Given the description of an element on the screen output the (x, y) to click on. 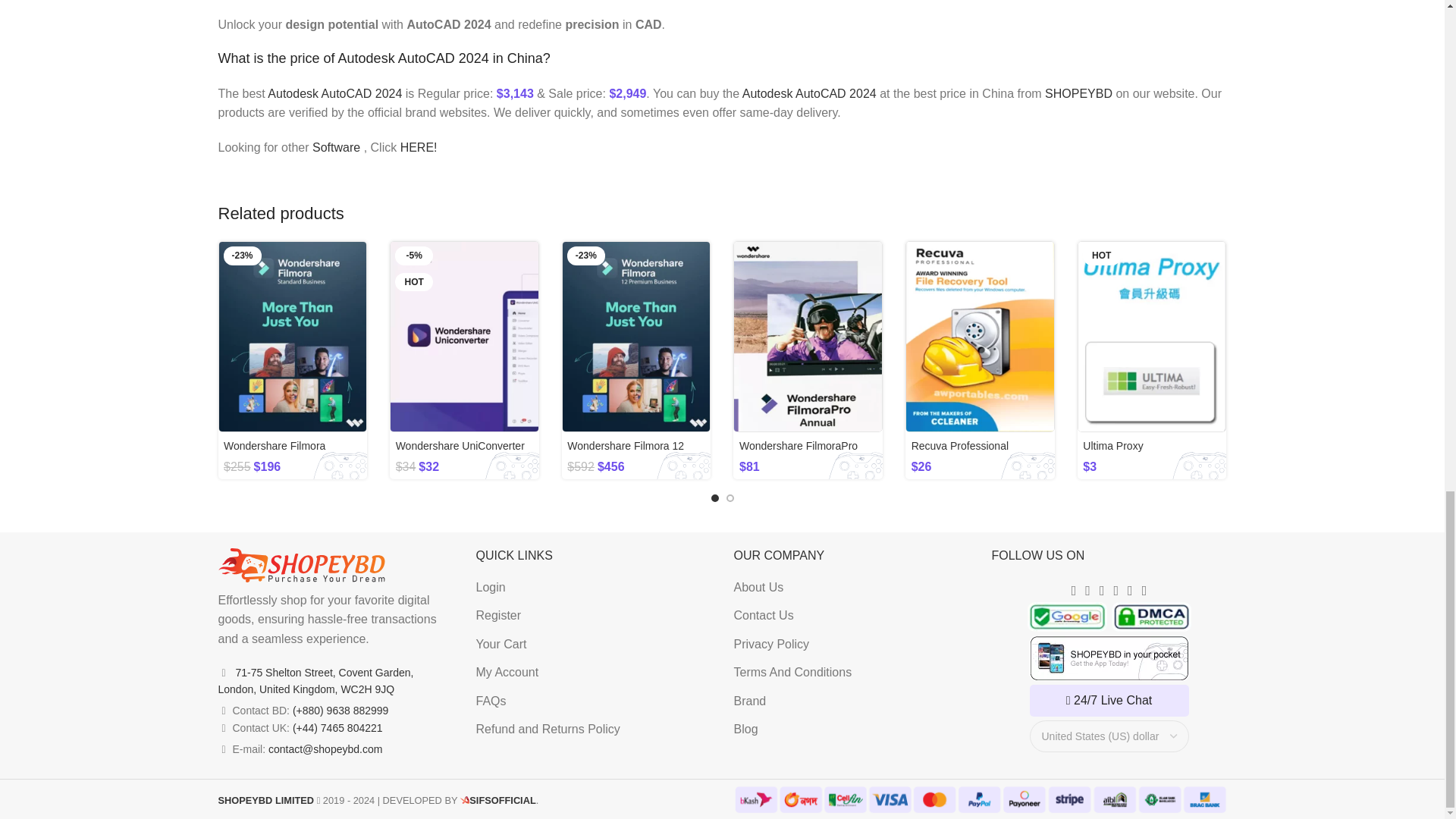
shopeybd logo header (301, 565)
